Given the description of an element on the screen output the (x, y) to click on. 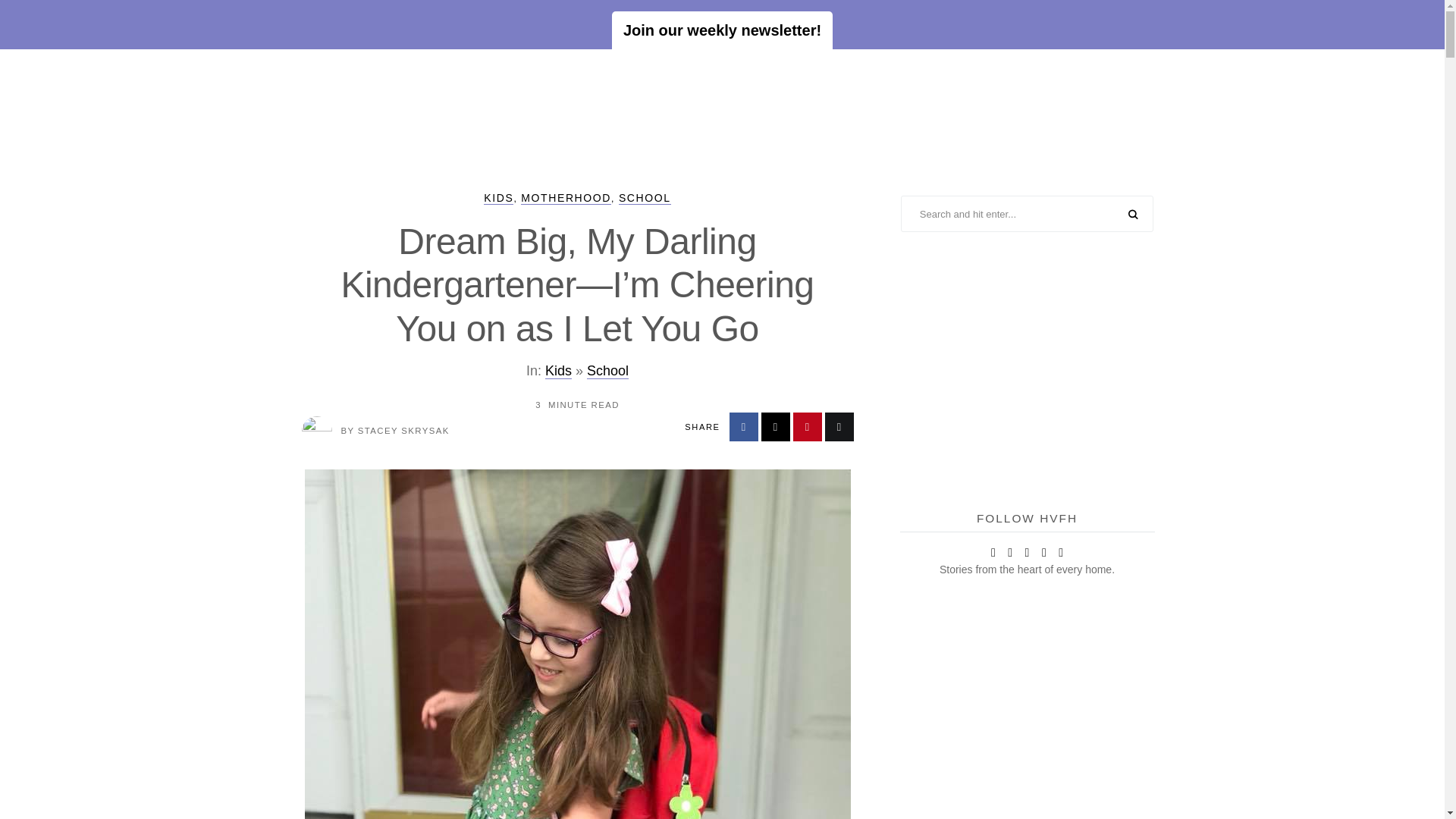
Share on X (775, 426)
Share on Pinterest (807, 426)
Share by Email (839, 426)
SEARCH (1133, 214)
Share on Facebook (743, 426)
